Given the description of an element on the screen output the (x, y) to click on. 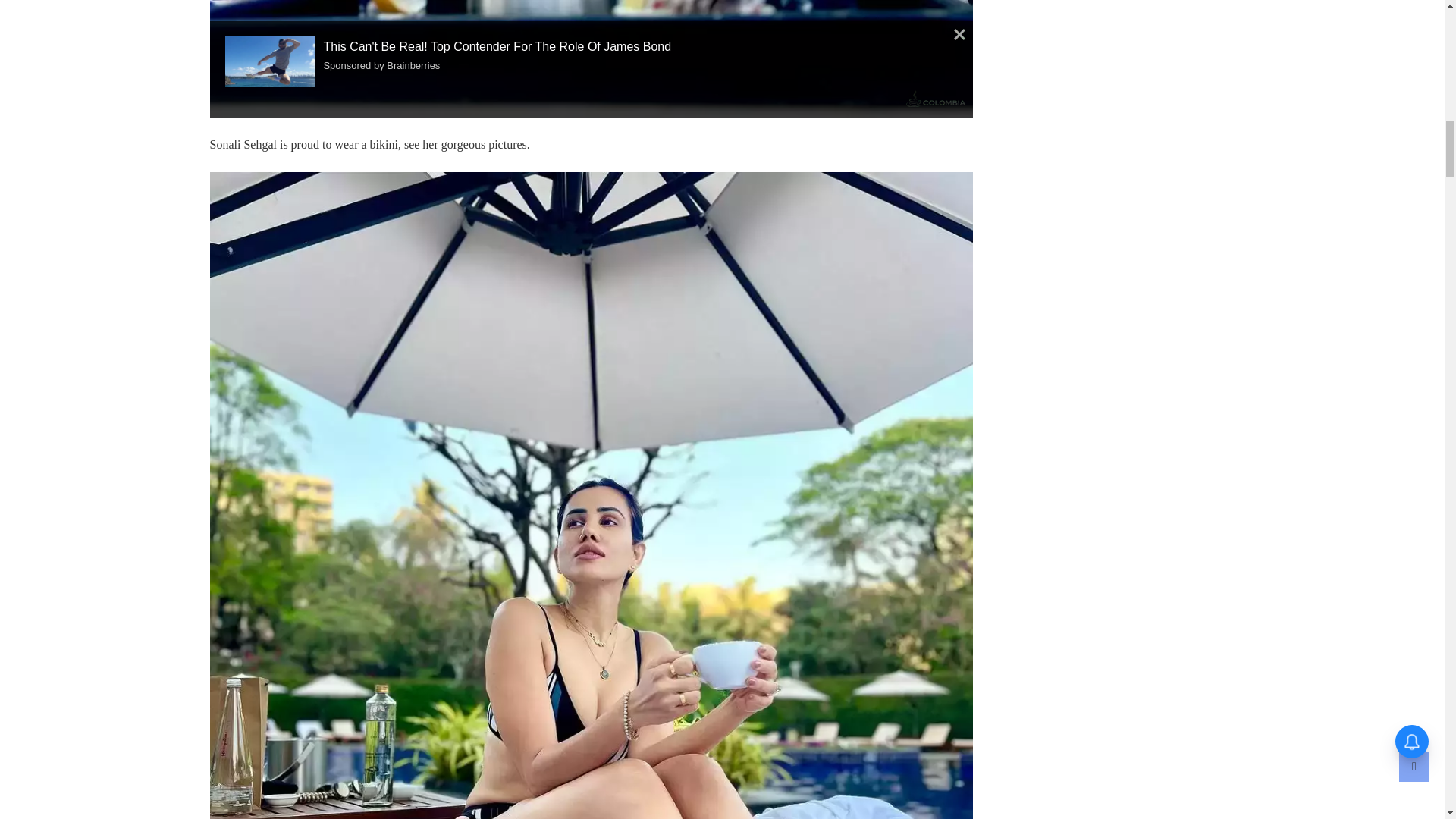
This Can't Be Real! Top Contender For The Role Of James Bond (274, 61)
